Given the description of an element on the screen output the (x, y) to click on. 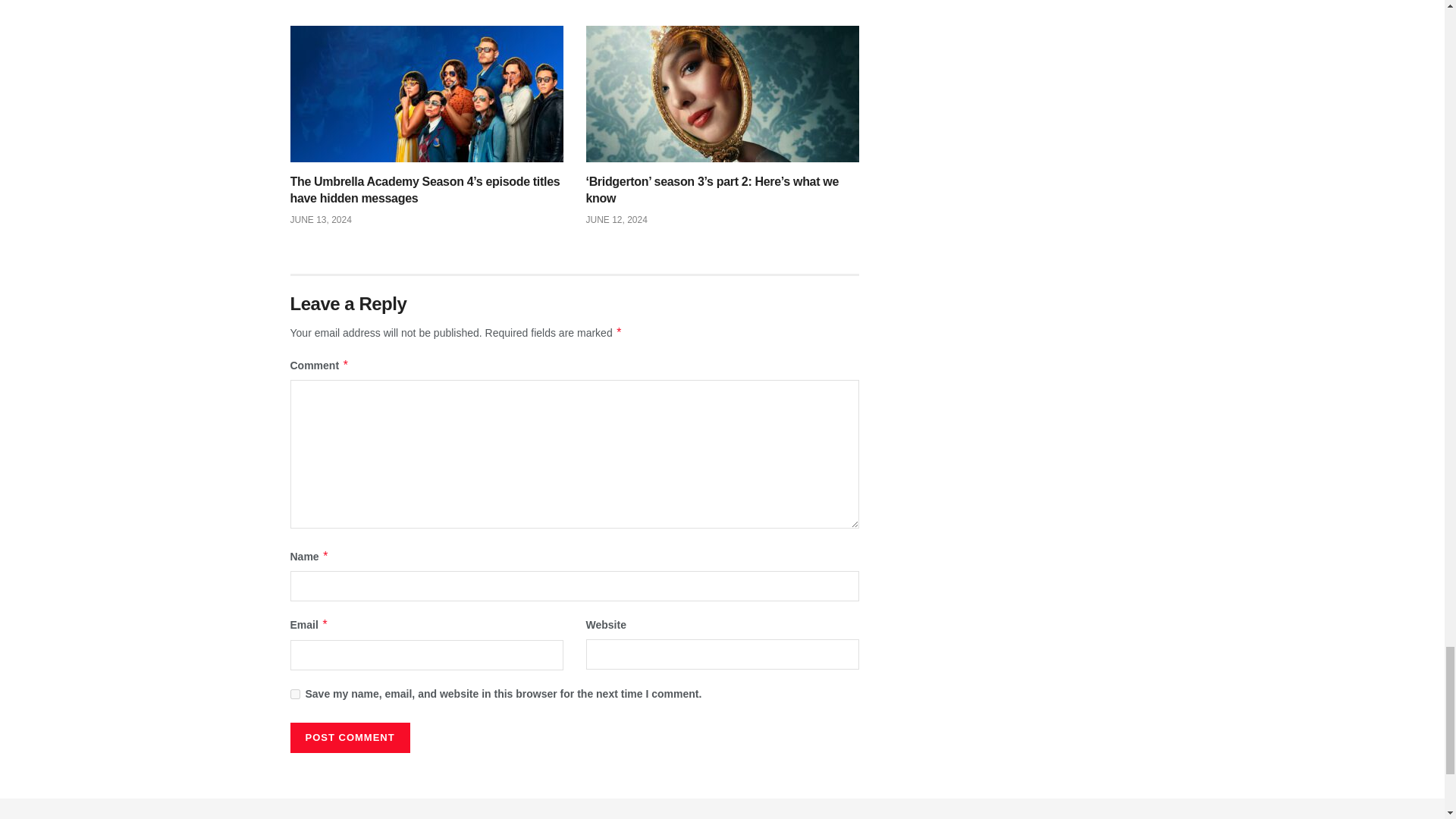
Post Comment (349, 737)
yes (294, 694)
